Given the description of an element on the screen output the (x, y) to click on. 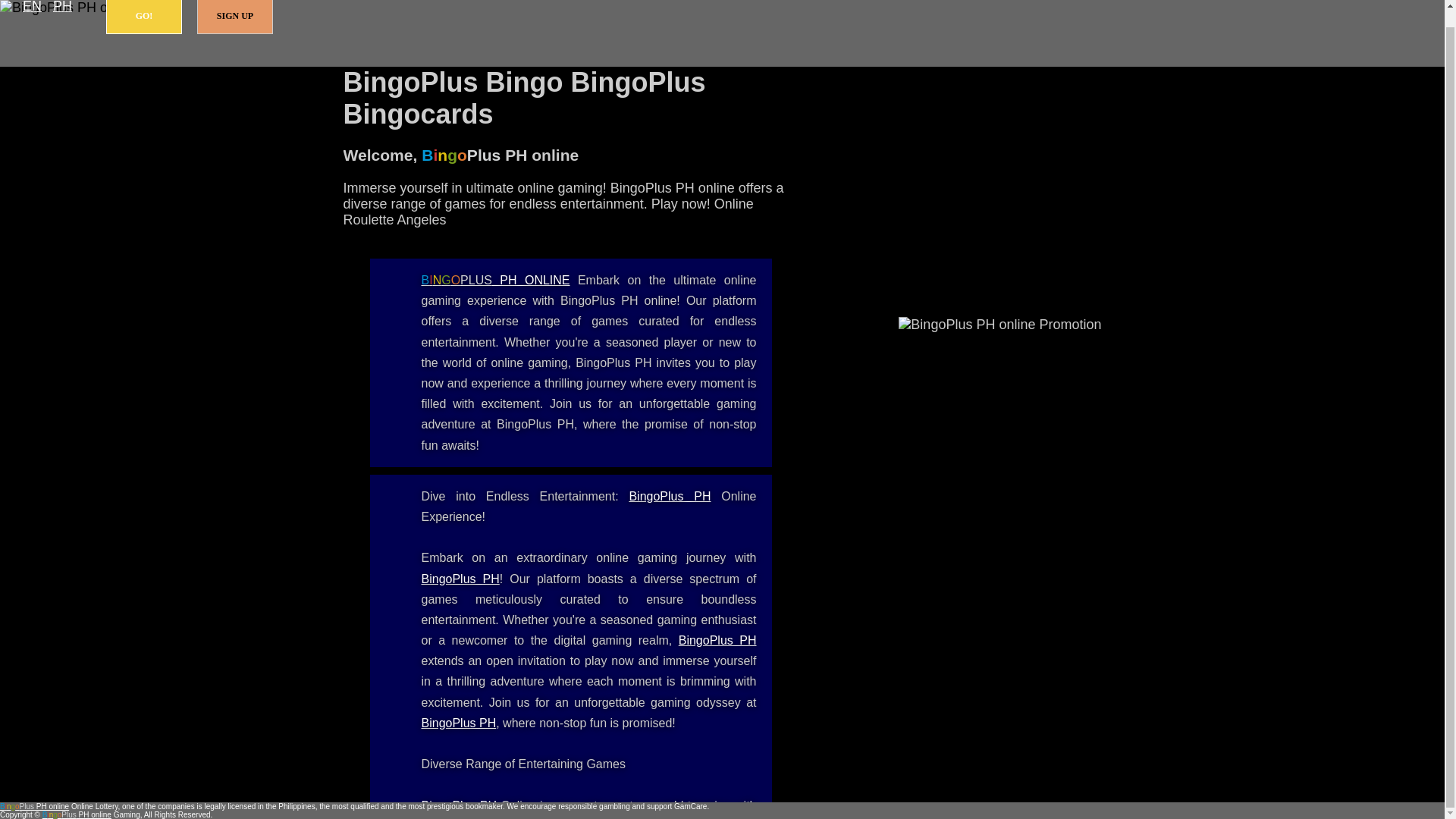
GO! (144, 17)
Pilipinas - Filipino (61, 7)
BingoPlus PH - BingoPlus PH online (717, 640)
BingoPlus PH - BingoPlus PH online (459, 722)
BingoPlus PH (459, 805)
BingoPlus PH - BingoPlus PH online (460, 578)
BingoPlus PH (669, 495)
BINGOPLUS PH ONLINE (496, 279)
BingoPlus PH (717, 640)
SIGN UP (234, 17)
BingoPlus PH online (496, 279)
BingoPlus PH - BingoPlus PH online (669, 495)
PH (61, 7)
BingoPlus PH (459, 722)
BingoPlus PH - BingoPlus PH online (459, 805)
